Given the description of an element on the screen output the (x, y) to click on. 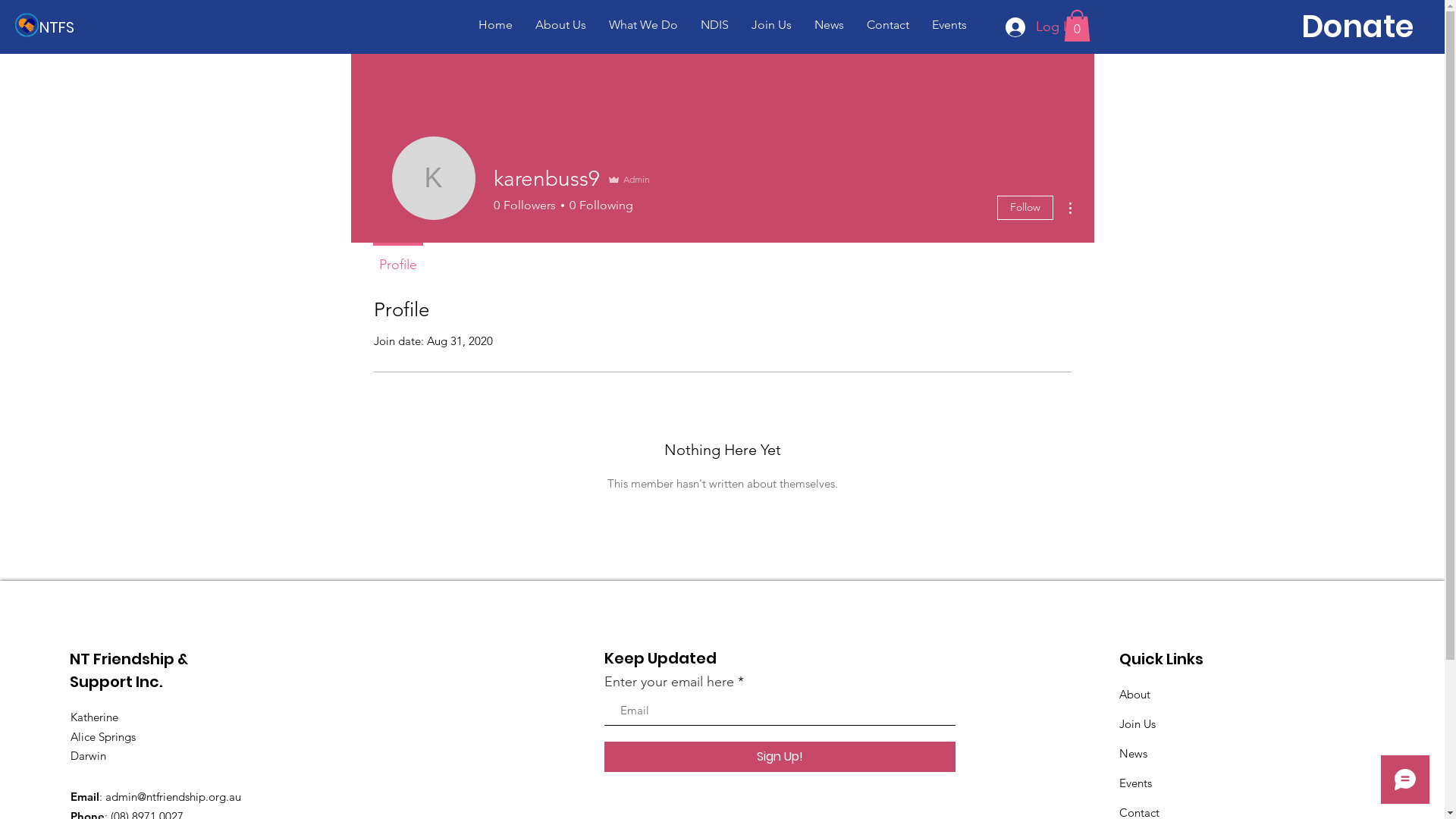
Join Us Element type: text (1137, 723)
0 Element type: text (1076, 25)
NTFS Element type: text (58, 26)
admin@ntfriendship.org.au Element type: text (173, 796)
News Element type: text (1133, 753)
About Element type: text (1134, 694)
Log In Element type: text (1039, 26)
NDIS Element type: text (713, 24)
Follow Element type: text (1024, 207)
0
Following Element type: text (598, 205)
Join Us Element type: text (771, 24)
Events Element type: text (949, 24)
News Element type: text (828, 24)
Profile Element type: text (397, 257)
About Us Element type: text (559, 24)
Sign Up! Element type: text (779, 756)
What We Do Element type: text (643, 24)
Home Element type: text (495, 24)
0
Followers Element type: text (523, 205)
Donate Element type: text (1357, 26)
Contact Element type: text (887, 24)
Events Element type: text (1135, 782)
